Given the description of an element on the screen output the (x, y) to click on. 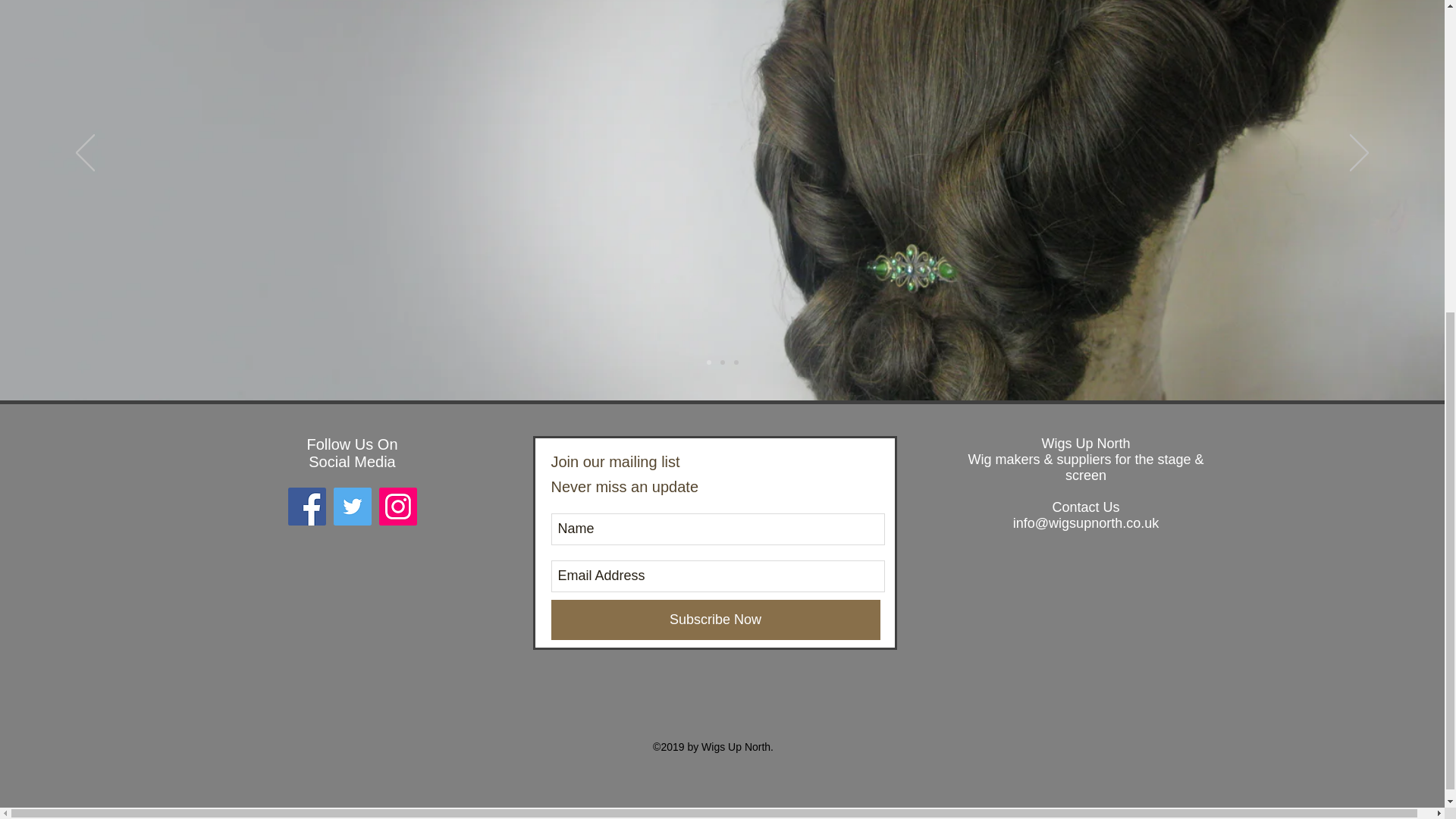
Subscribe Now (714, 619)
